Given the description of an element on the screen output the (x, y) to click on. 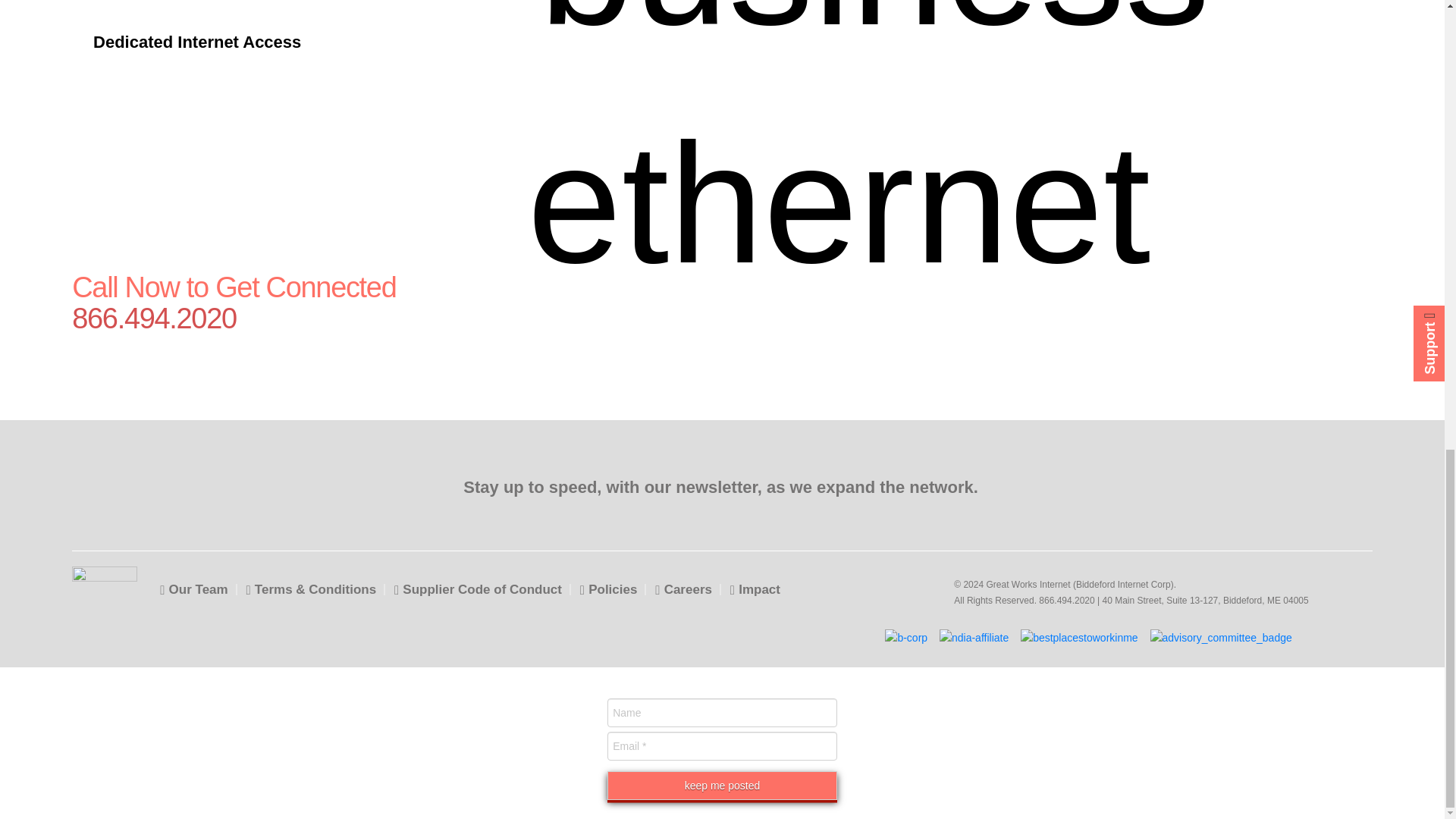
Policies (608, 589)
keep me posted (722, 785)
866.494.2020 (266, 318)
Our Team (193, 589)
Dedicated Internet Access (247, 41)
Impact (754, 589)
Supplier Code of Conduct (478, 589)
Careers (683, 589)
